Given the description of an element on the screen output the (x, y) to click on. 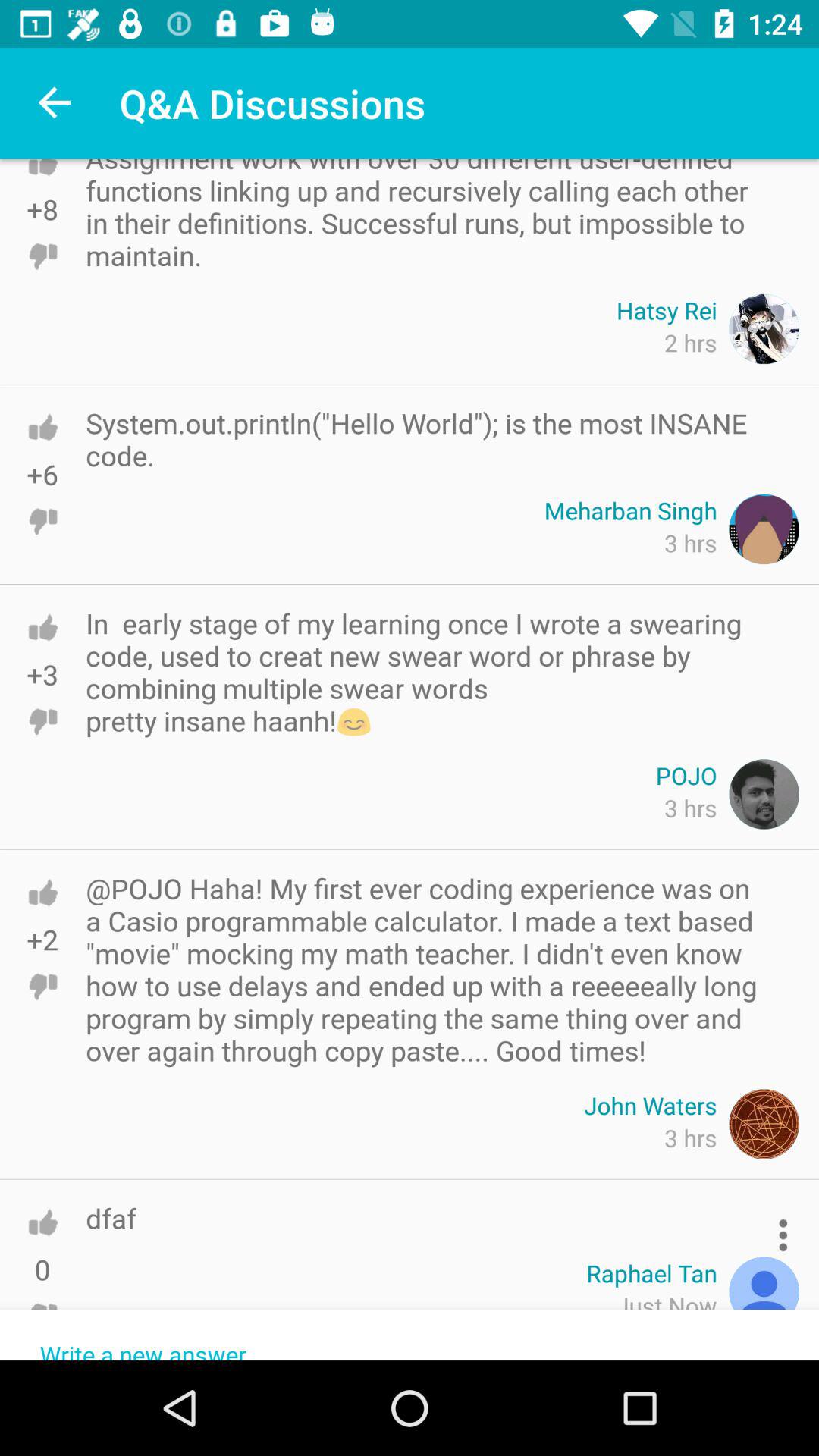
go to like (42, 721)
